Given the description of an element on the screen output the (x, y) to click on. 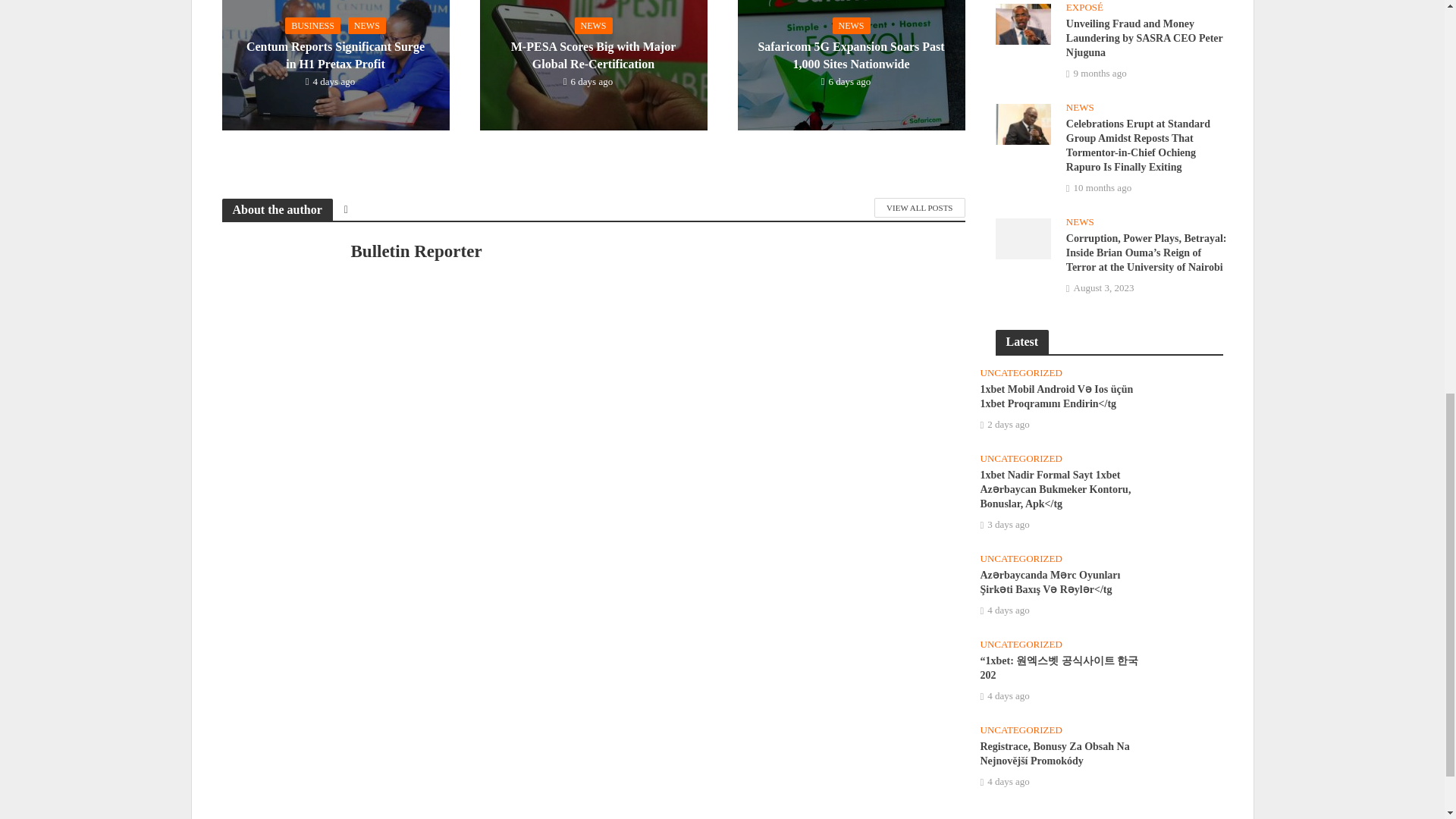
M-PESA Scores Big with Major Global Re-Certification (592, 52)
M-PESA Scores Big with Major Global Re-Certification (592, 65)
Safaricom 5G Expansion Soars Past 1,000 Sites Nationwide (849, 52)
Centum Reports Significant Surge in H1 Pretax Profit (334, 52)
Safaricom 5G Expansion Soars Past 1,000 Sites Nationwide (849, 65)
Centum Reports Significant Surge in H1 Pretax Profit (334, 65)
